Given the description of an element on the screen output the (x, y) to click on. 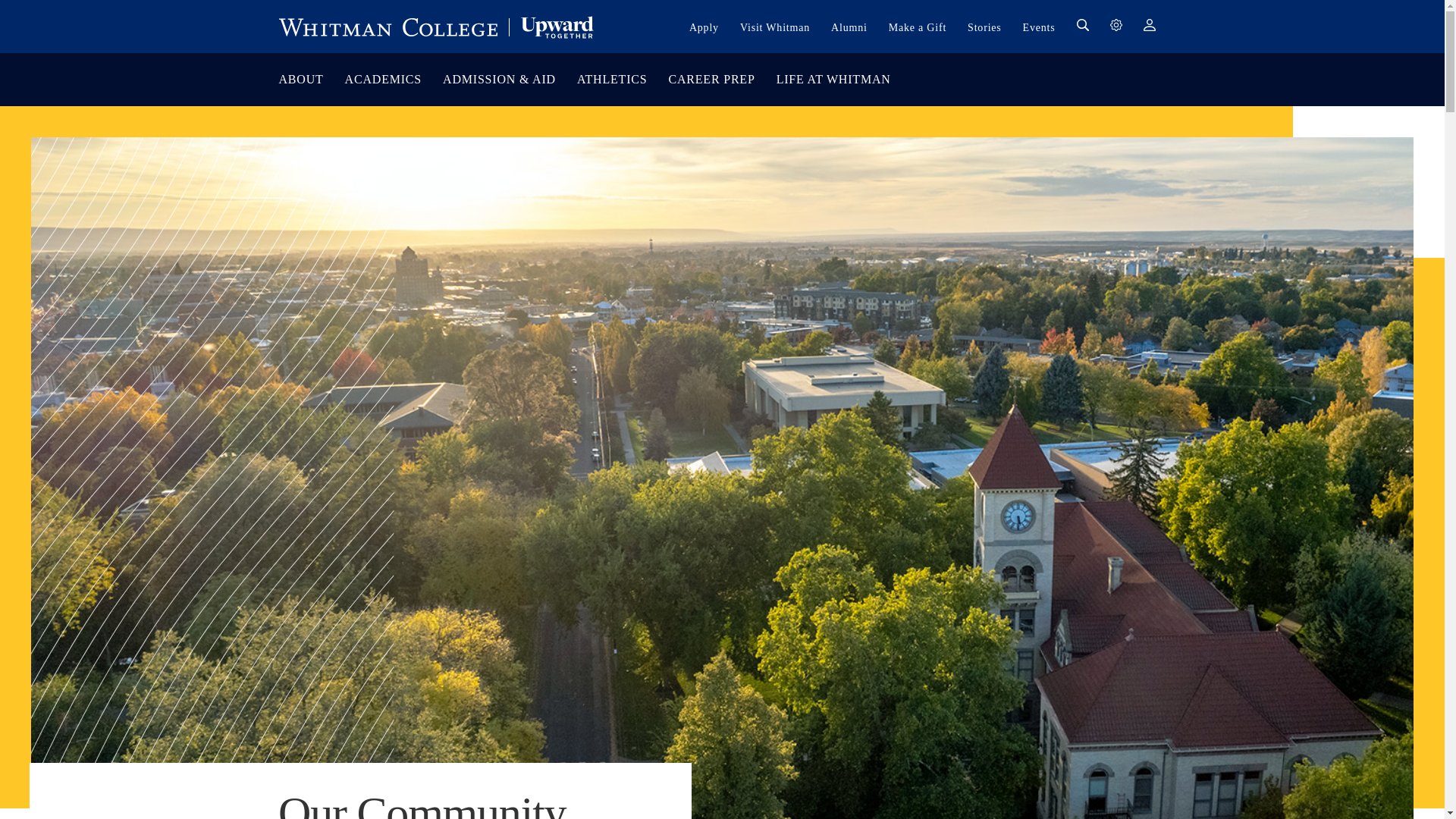
Stories (984, 27)
Alumni (849, 27)
Visit Whitman (774, 27)
Alumni (849, 27)
Stories (984, 27)
Events (1039, 27)
Make a Gift (917, 27)
Make a Gift (917, 27)
Apply (703, 27)
Visit Whitman (774, 27)
Apply (703, 27)
Events (1039, 27)
